Given the description of an element on the screen output the (x, y) to click on. 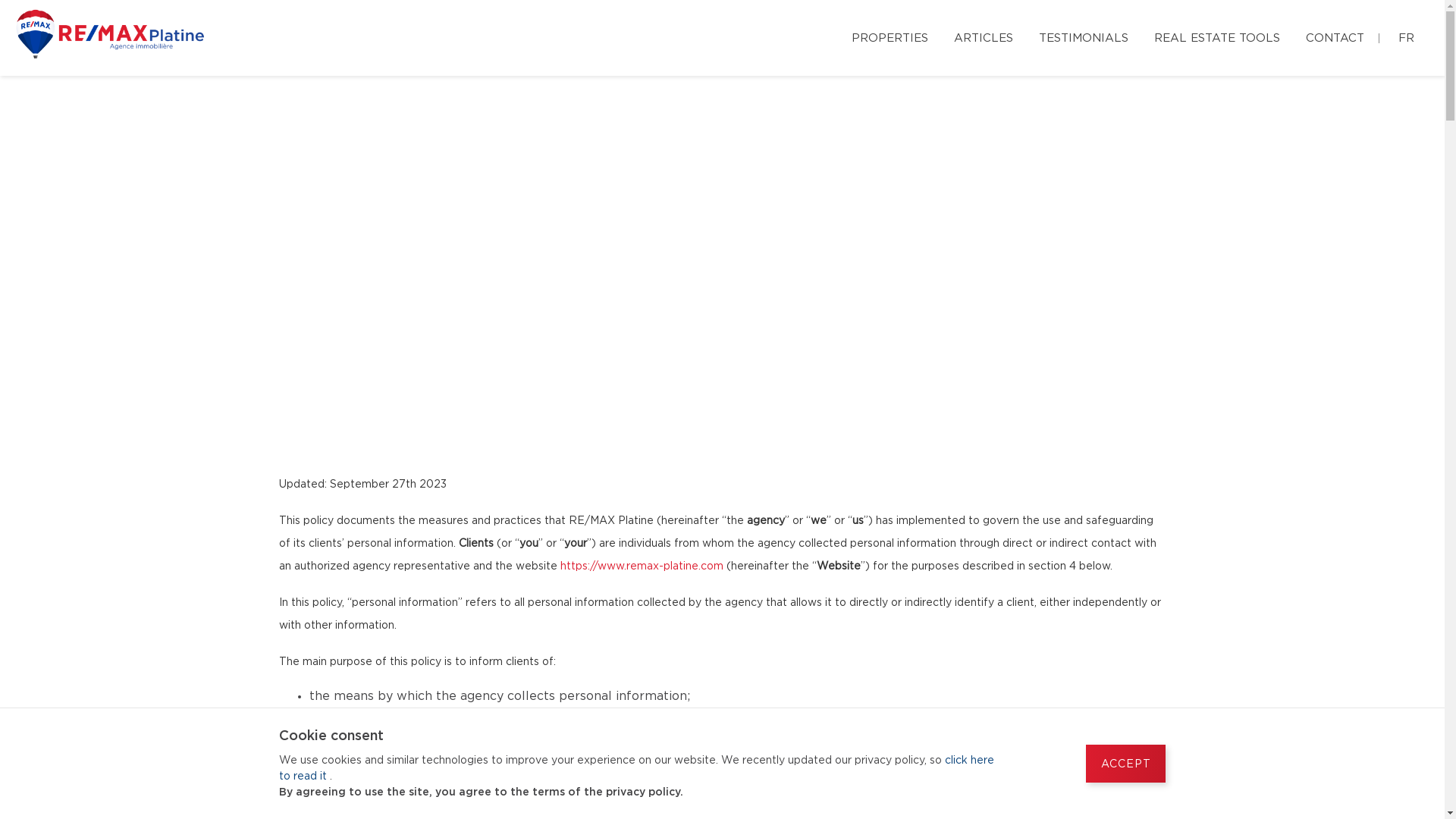
ARTICLES Element type: text (983, 37)
REAL ESTATE TOOLS Element type: text (1216, 37)
PROPERTIES Element type: text (889, 37)
click here to read it Element type: text (636, 768)
FR Element type: text (1406, 37)
CONTACT Element type: text (1335, 37)
https://www.remax-platine.com Element type: text (640, 566)
TESTIMONIALS Element type: text (1083, 37)
ACCEPT Element type: text (1125, 763)
